Given the description of an element on the screen output the (x, y) to click on. 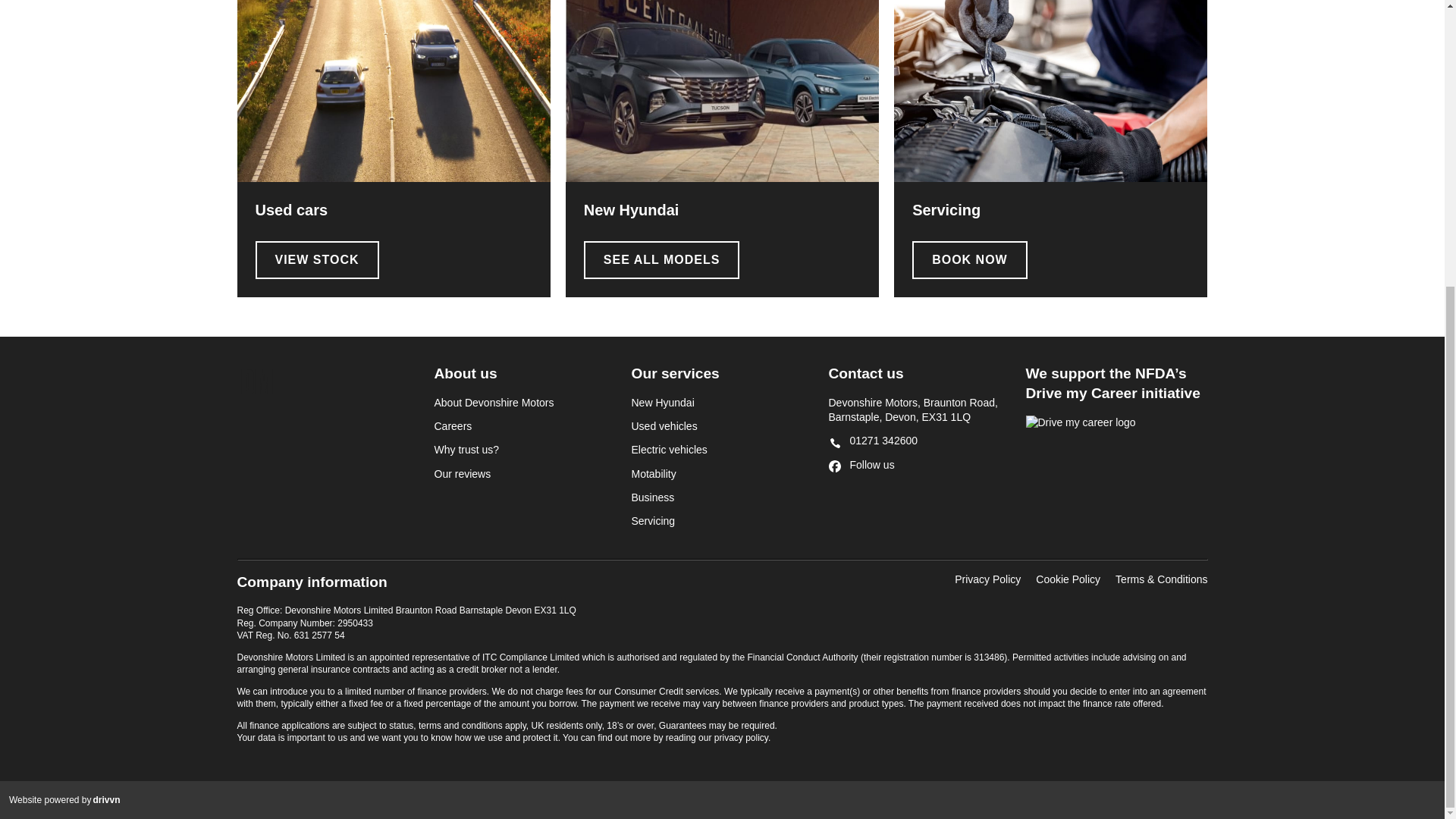
BOOK NOW (969, 259)
About Devonshire Motors (524, 402)
VIEW STOCK (316, 259)
Careers (524, 426)
Why trust us? (524, 450)
Electric vehicles (721, 450)
Motability (721, 473)
New Hyundai (721, 402)
Our reviews (524, 473)
SEE ALL MODELS (661, 259)
